Given the description of an element on the screen output the (x, y) to click on. 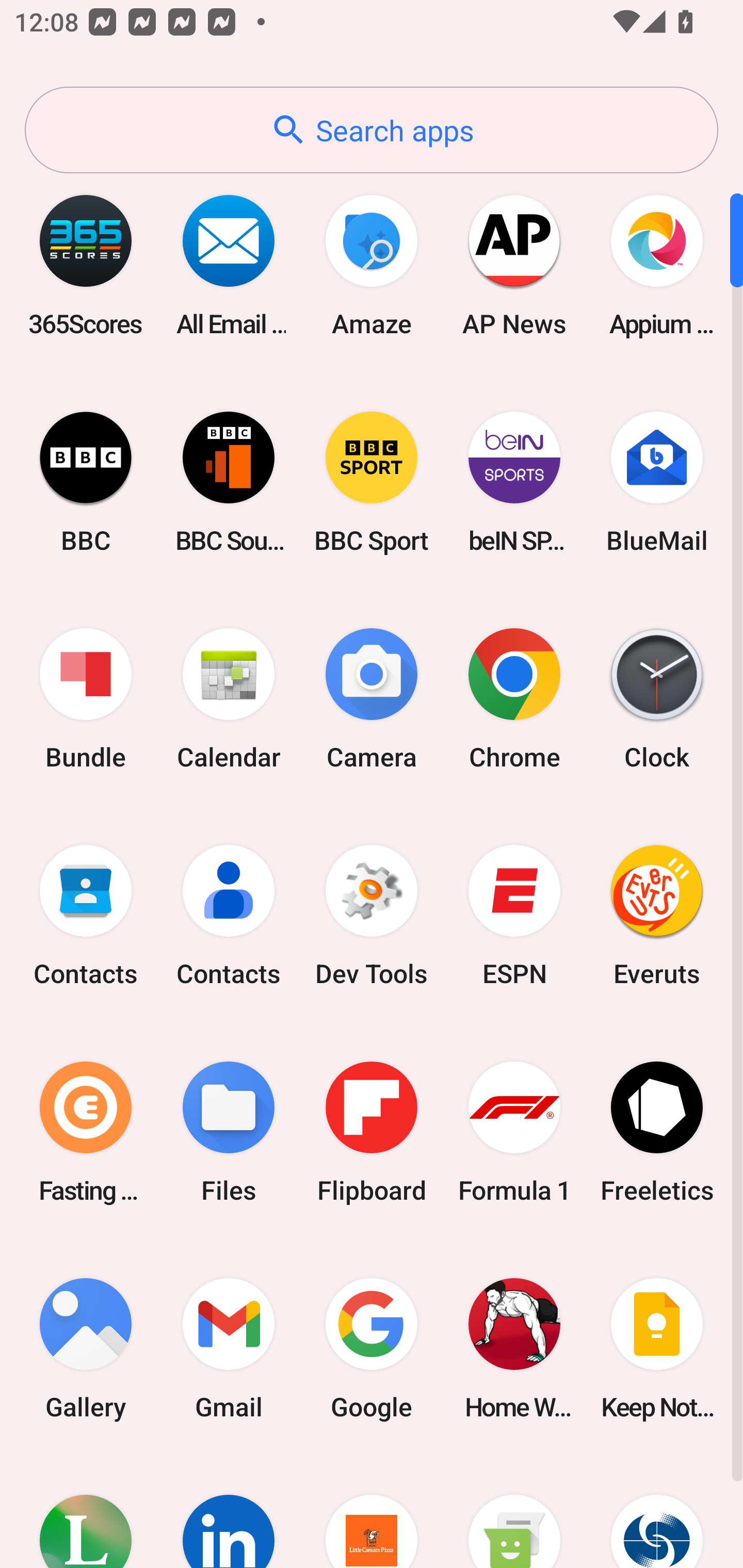
  Search apps (371, 130)
365Scores (85, 264)
All Email Connect (228, 264)
Amaze (371, 264)
AP News (514, 264)
Appium Settings (656, 264)
BBC (85, 482)
BBC Sounds (228, 482)
BBC Sport (371, 482)
beIN SPORTS (514, 482)
BlueMail (656, 482)
Bundle (85, 699)
Calendar (228, 699)
Camera (371, 699)
Chrome (514, 699)
Clock (656, 699)
Contacts (85, 915)
Contacts (228, 915)
Dev Tools (371, 915)
ESPN (514, 915)
Everuts (656, 915)
Fasting Coach (85, 1131)
Files (228, 1131)
Flipboard (371, 1131)
Formula 1 (514, 1131)
Freeletics (656, 1131)
Gallery (85, 1348)
Gmail (228, 1348)
Google (371, 1348)
Home Workout (514, 1348)
Keep Notes (656, 1348)
Lifesum (85, 1512)
LinkedIn (228, 1512)
Little Caesars Pizza (371, 1512)
Messaging (514, 1512)
MyObservatory (656, 1512)
